Given the description of an element on the screen output the (x, y) to click on. 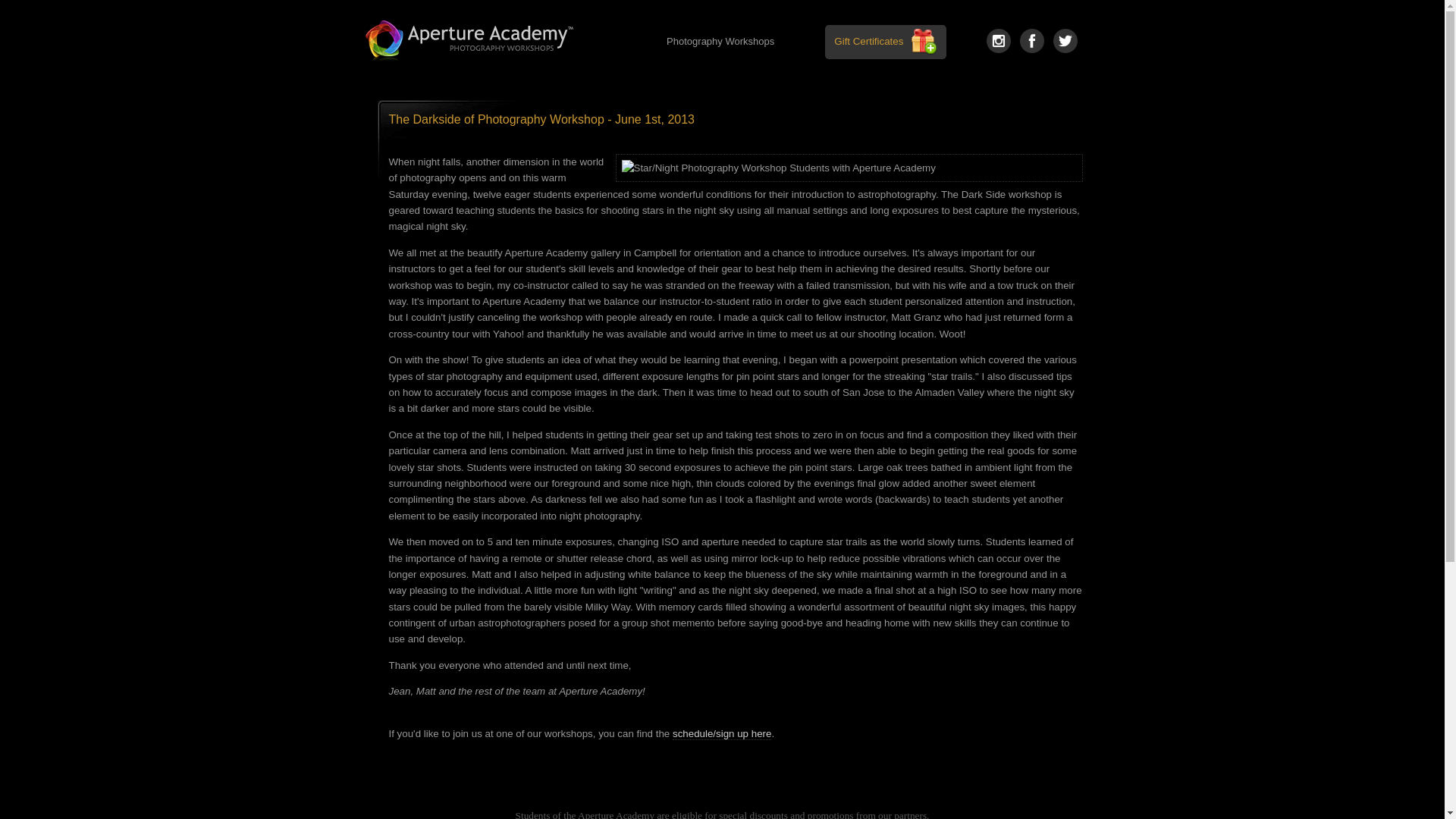
Photography Workshops (720, 41)
Gift Certificates (868, 41)
